Given the description of an element on the screen output the (x, y) to click on. 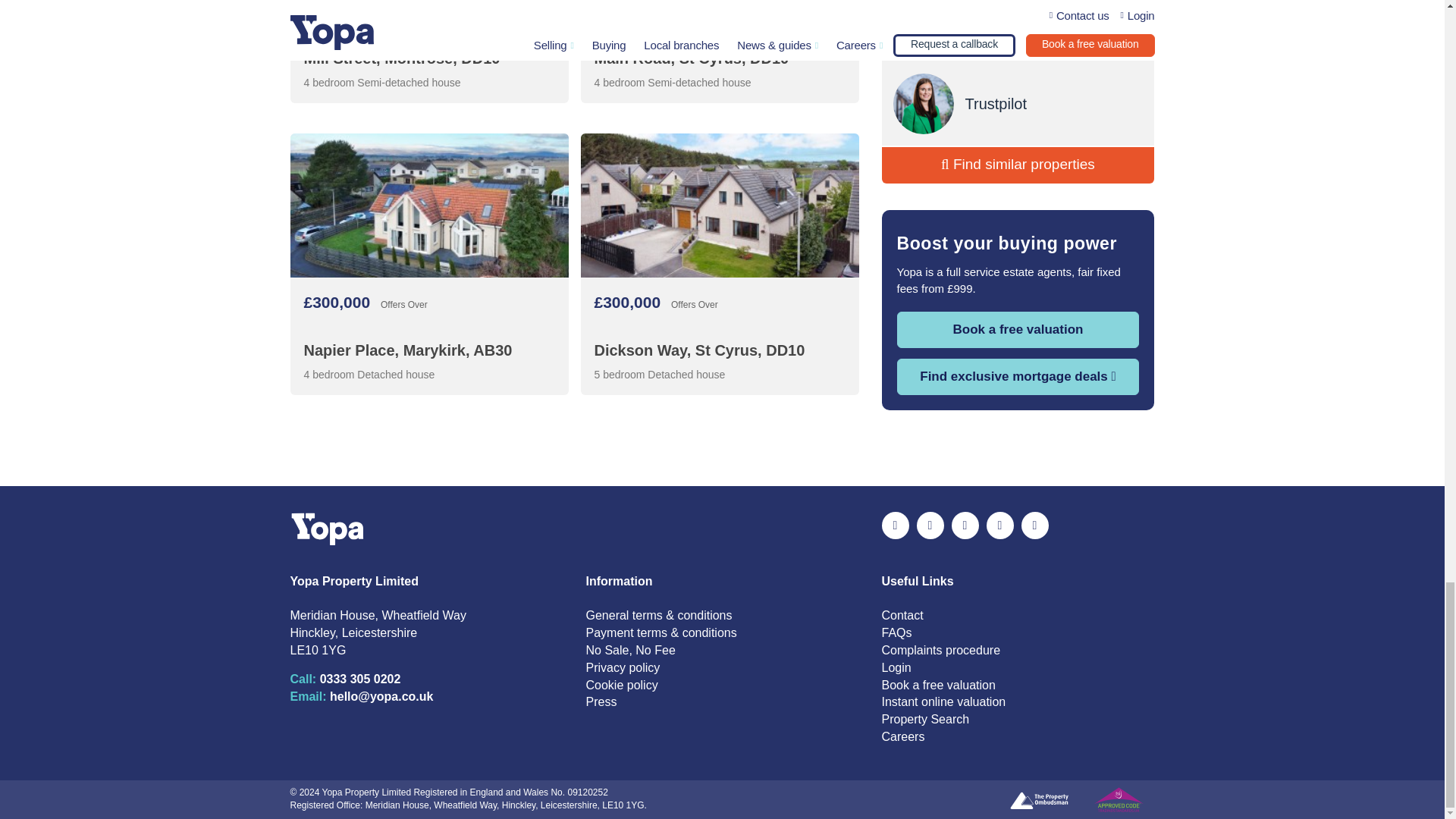
Cookie policy (621, 684)
Contact (901, 615)
FAQs (895, 632)
Press (600, 701)
Complaints procedure (940, 649)
No Sale, No Fee (630, 649)
Privacy policy (622, 667)
